Given the description of an element on the screen output the (x, y) to click on. 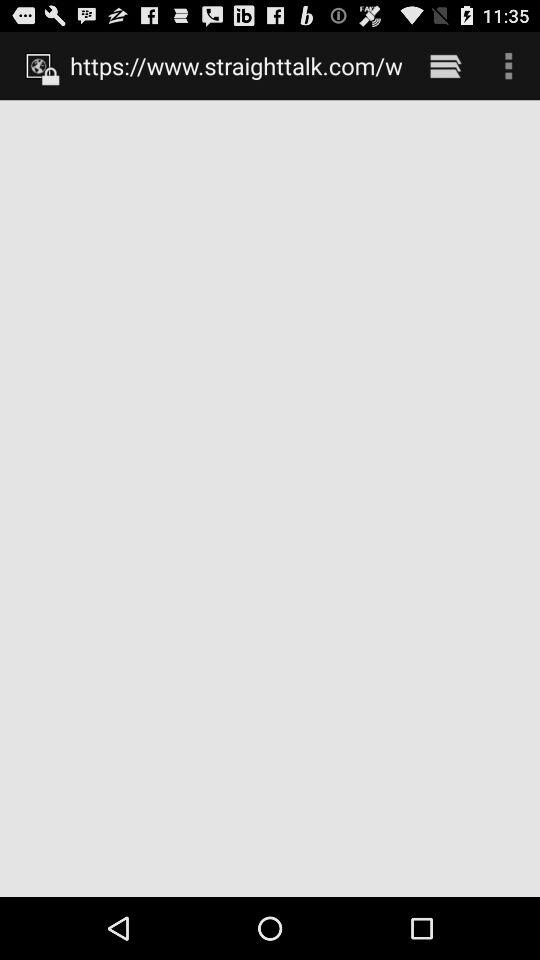
tap the https www straighttalk item (235, 65)
